Given the description of an element on the screen output the (x, y) to click on. 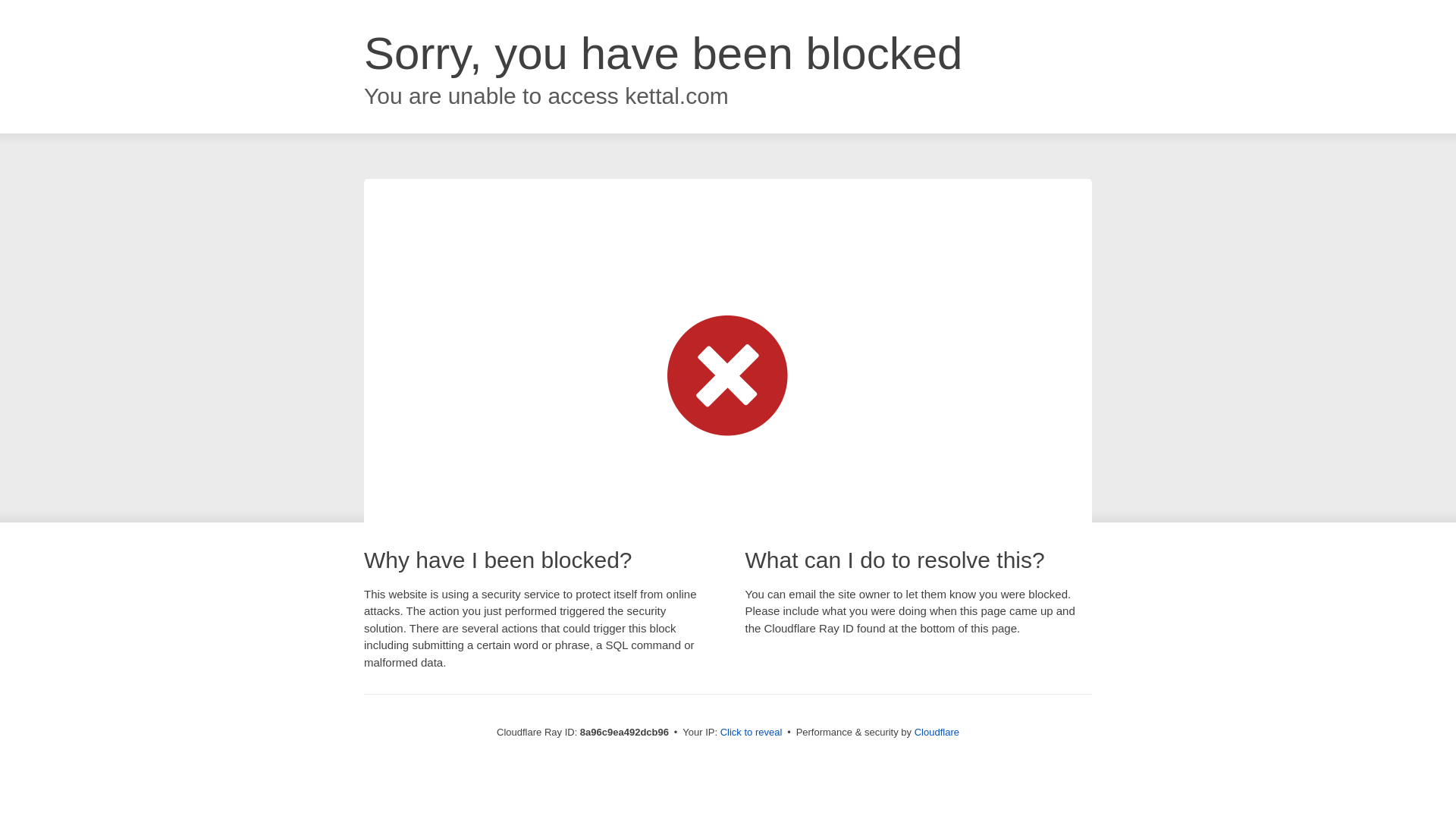
Click to reveal (751, 732)
Cloudflare (936, 731)
